Given the description of an element on the screen output the (x, y) to click on. 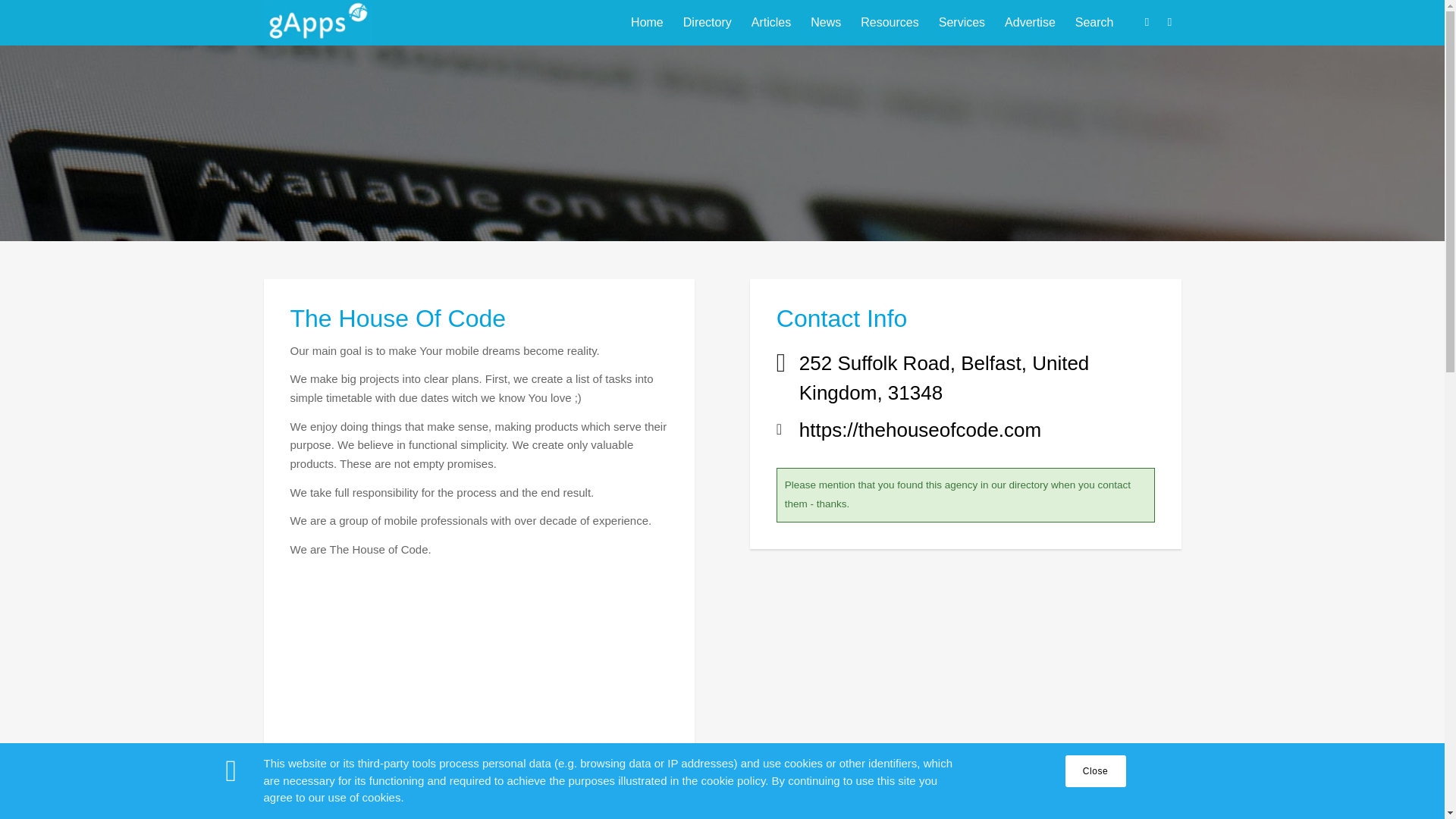
News (825, 22)
Close (1094, 771)
LinkedIn (1169, 21)
Search (1094, 22)
Home (646, 22)
Advertise (1029, 22)
Resources (889, 22)
gApps-v3 (317, 22)
Articles (770, 22)
Directory (706, 22)
Services (961, 22)
X (1146, 21)
